Given the description of an element on the screen output the (x, y) to click on. 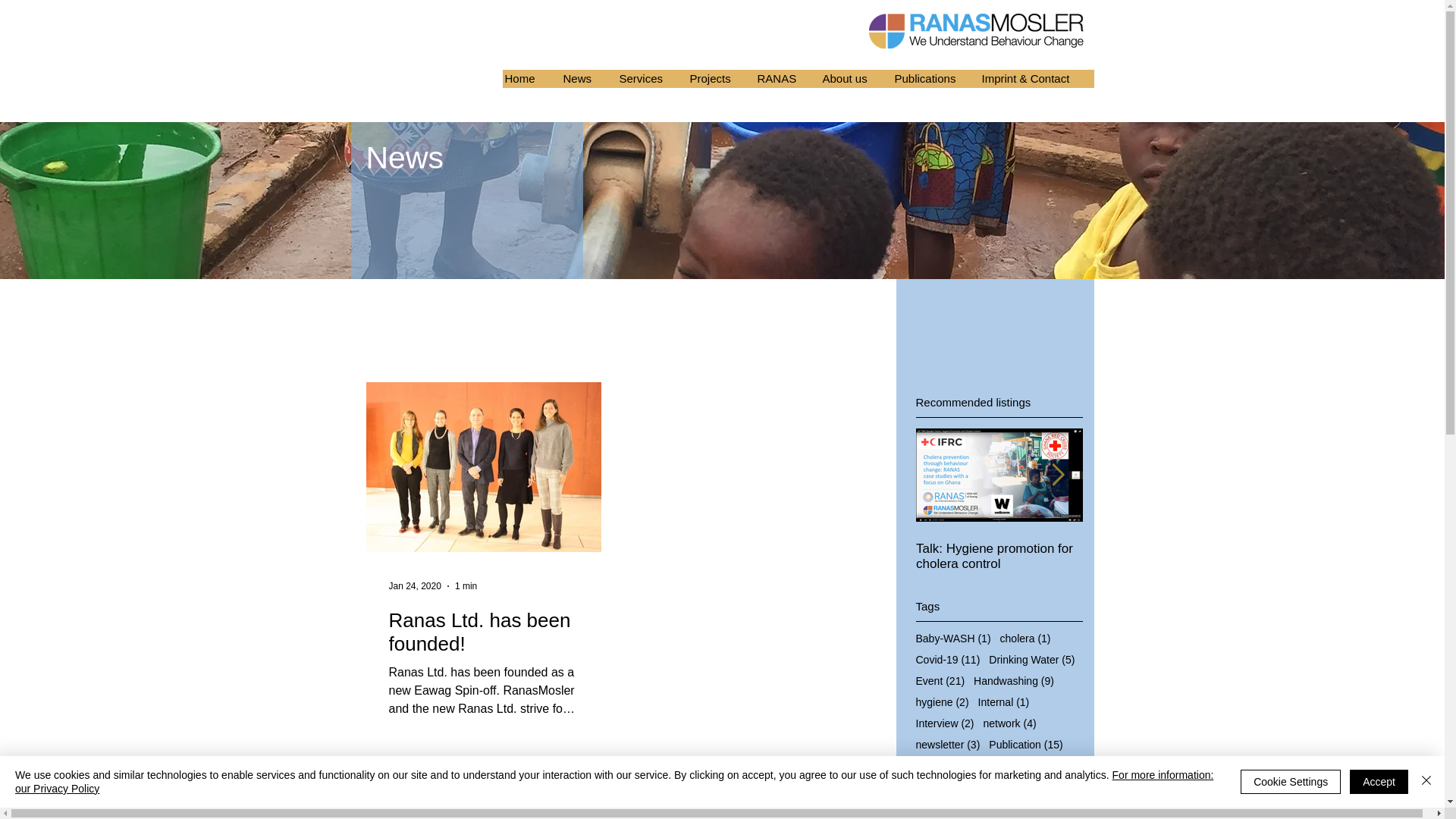
1 min (465, 585)
Jan 24, 2020 (414, 585)
Post not marked as liked (571, 791)
Ranas Ltd. has been founded! (483, 632)
Home (531, 78)
News (588, 78)
Publications (934, 78)
Projects (720, 78)
RANAS (788, 78)
Services (652, 78)
About us (856, 78)
